Given the description of an element on the screen output the (x, y) to click on. 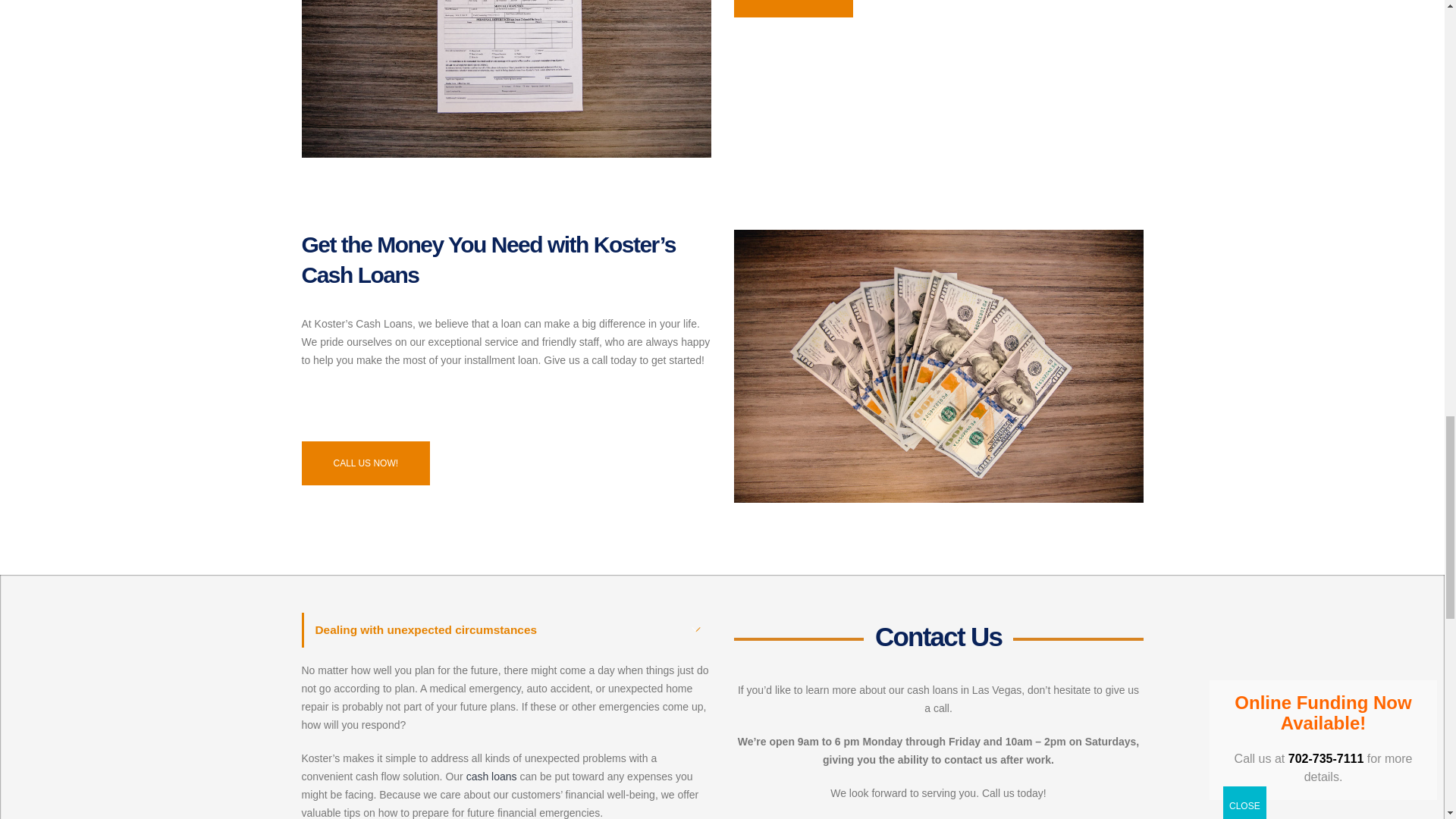
CALL US NOW! (365, 463)
Koster's (937, 366)
Koster's (506, 78)
cash loans (490, 776)
APPLY NOW! (793, 8)
